Given the description of an element on the screen output the (x, y) to click on. 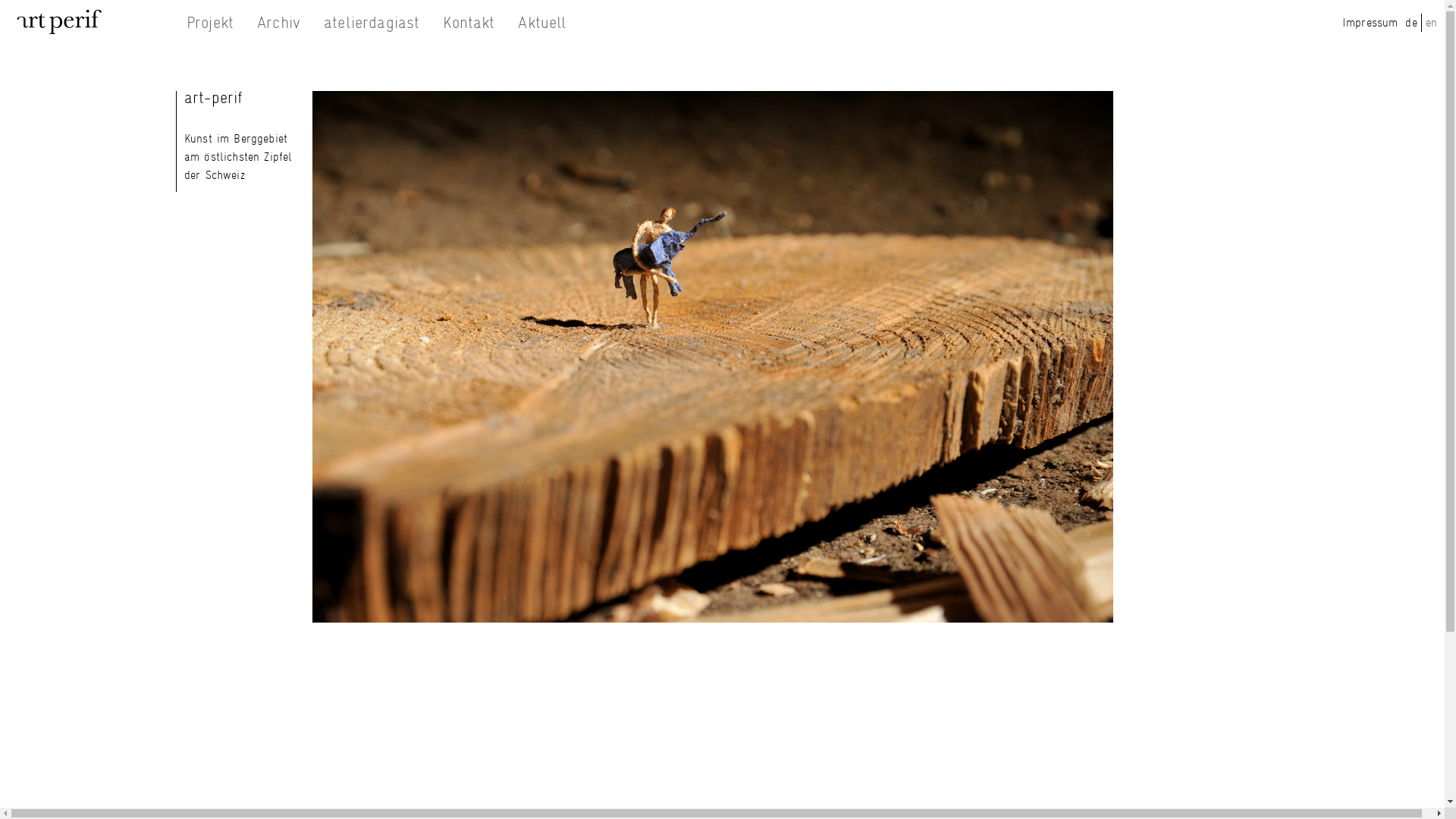
Archiv Element type: text (278, 21)
Kontakt Element type: text (468, 21)
Aktuell Element type: text (541, 21)
en Element type: text (1431, 22)
Nicole Dunn
Mann, blauen Elefant tragend 1990 Element type: hover (712, 356)
atelierdagiast Element type: text (371, 21)
de Element type: text (1410, 22)
Impressum Element type: text (1369, 22)
Projekt Element type: text (209, 21)
